Given the description of an element on the screen output the (x, y) to click on. 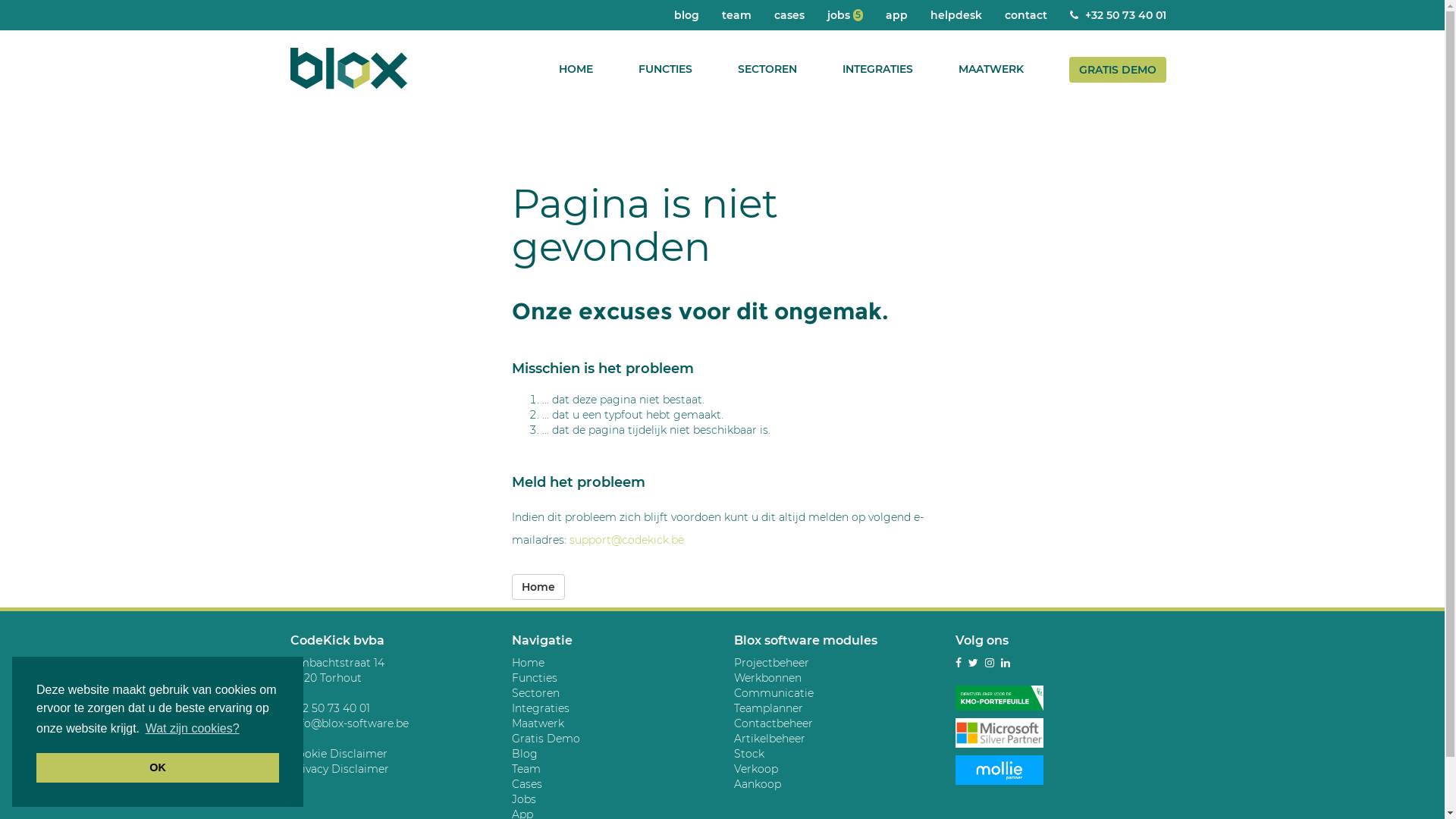
Team Element type: text (525, 768)
Gratis Demo Element type: text (545, 738)
HOME Element type: text (575, 68)
jobs 5 Element type: text (844, 15)
Privacy Disclaimer Element type: text (338, 768)
Werkbonnen Element type: text (767, 677)
helpdesk Element type: text (956, 15)
+32 50 73 40 01 Element type: text (329, 708)
GRATIS DEMO Element type: text (1117, 69)
info@blox-software.be Element type: text (348, 723)
Verkoop Element type: text (756, 768)
support@codekick.be Element type: text (626, 539)
Communicatie Element type: text (773, 692)
contact Element type: text (1025, 15)
app Element type: text (895, 15)
Aankoop Element type: text (757, 783)
MAATWERK Element type: text (990, 68)
Wat zijn cookies? Element type: text (192, 728)
Blog Element type: text (524, 753)
Home Element type: text (527, 662)
Cases Element type: text (526, 783)
Home Element type: text (537, 586)
cases Element type: text (788, 15)
+32 50 73 40 01 Element type: text (1117, 15)
Teamplanner Element type: text (768, 708)
FUNCTIES Element type: text (665, 68)
Integraties Element type: text (540, 708)
Cookie Disclaimer Element type: text (337, 753)
Projectbeheer Element type: text (771, 662)
blog Element type: text (686, 15)
Contactbeheer Element type: text (773, 723)
Sectoren Element type: text (535, 692)
SECTOREN Element type: text (766, 68)
INTEGRATIES Element type: text (876, 68)
Artikelbeheer Element type: text (769, 738)
Jobs Element type: text (523, 799)
team Element type: text (735, 15)
Maatwerk Element type: text (537, 723)
Functies Element type: text (534, 677)
OK Element type: text (157, 767)
Stock Element type: text (749, 753)
Ambachtstraat 14
8820 Torhout Element type: text (336, 669)
